Given the description of an element on the screen output the (x, y) to click on. 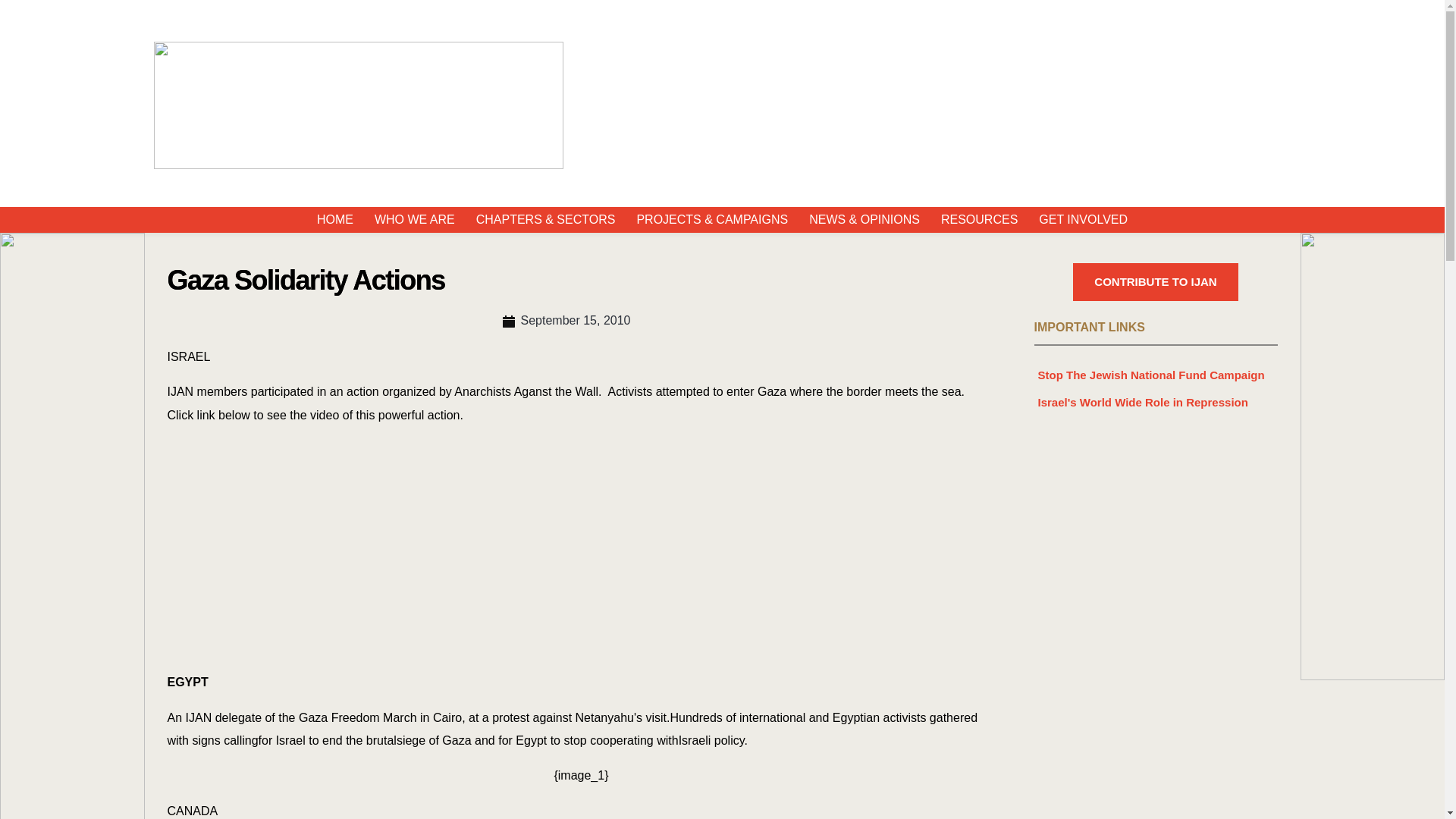
WHO WE ARE (414, 219)
RESOURCES (979, 219)
HOME (334, 219)
GET INVOLVED (1083, 219)
